Given the description of an element on the screen output the (x, y) to click on. 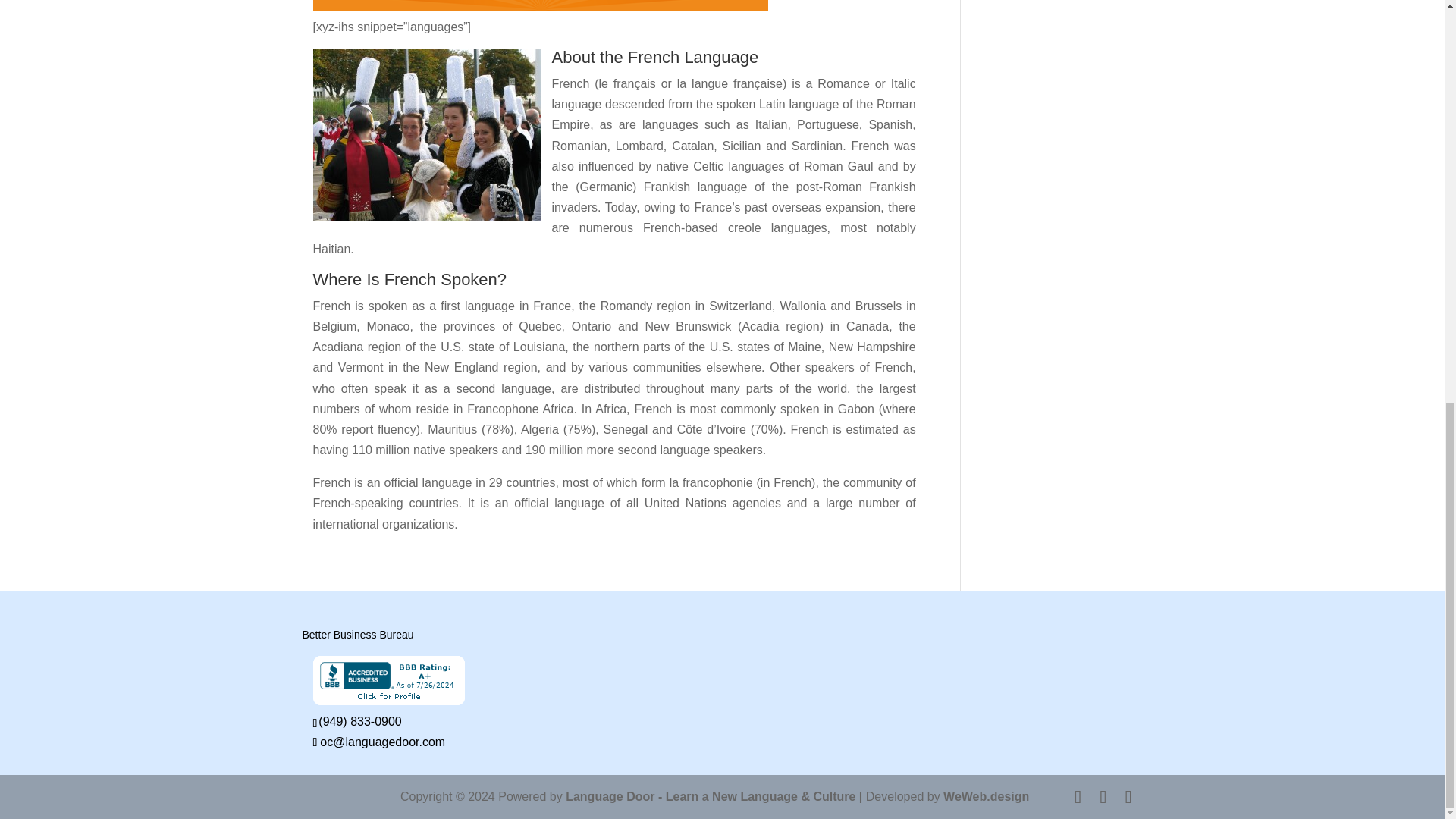
Click to open in new window (388, 700)
Click to open in new window (361, 721)
Click to open in new window (379, 741)
